Given the description of an element on the screen output the (x, y) to click on. 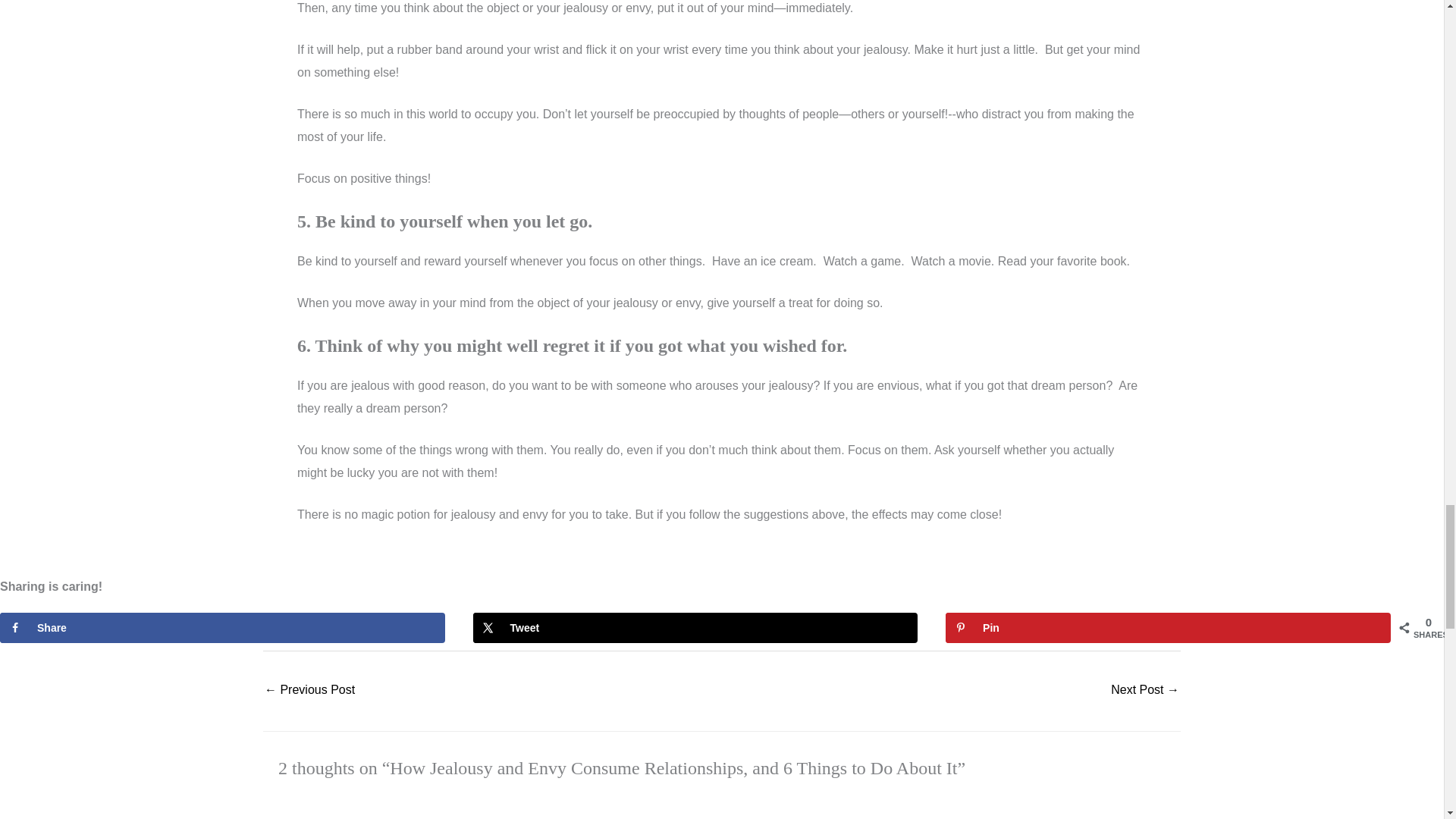
Share on X (695, 627)
Share on Facebook (222, 627)
Save to Pinterest (1167, 627)
Pin (1167, 627)
Share (222, 627)
Tweet (695, 627)
